Given the description of an element on the screen output the (x, y) to click on. 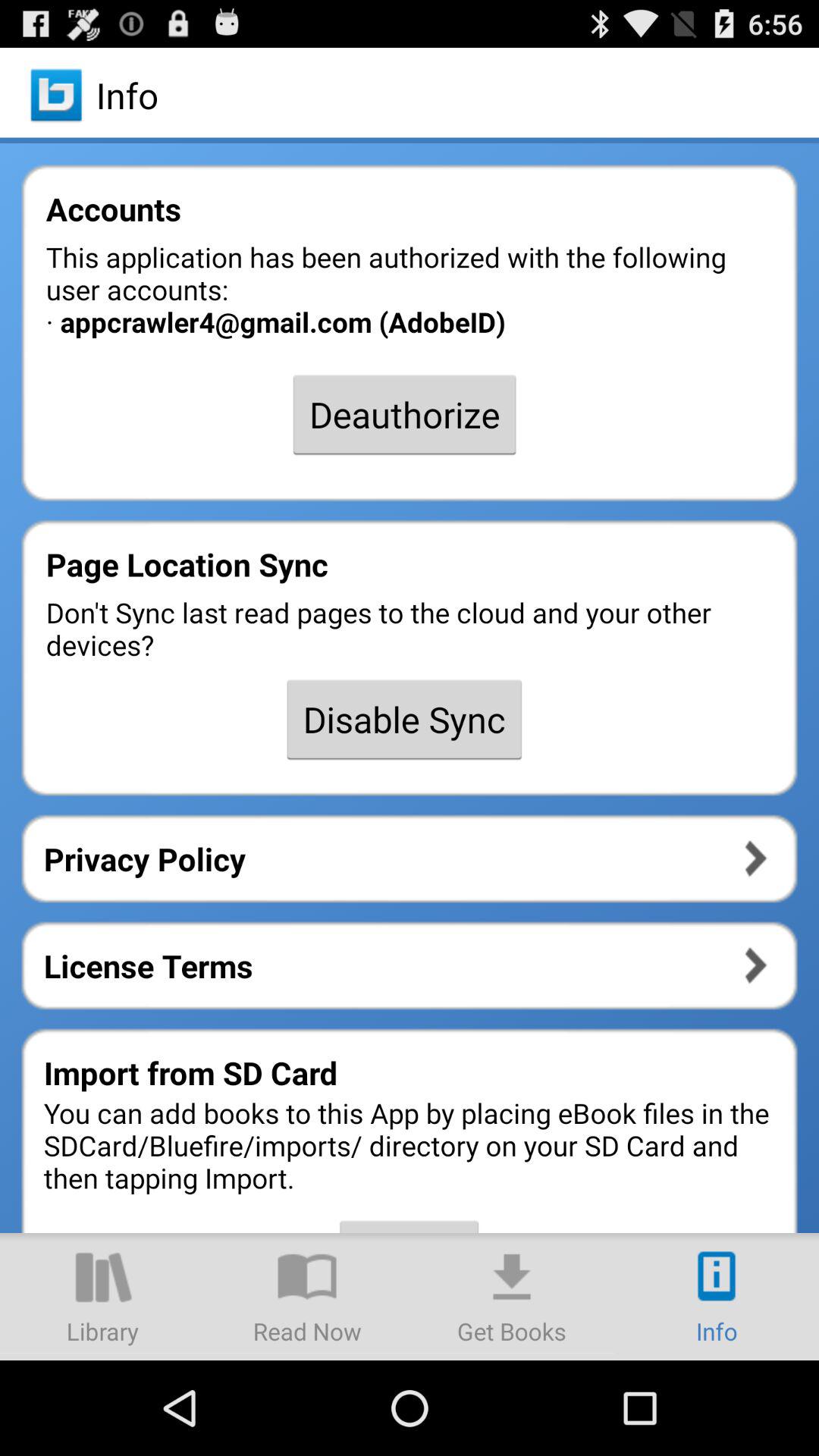
choose item below don t sync app (404, 719)
